Given the description of an element on the screen output the (x, y) to click on. 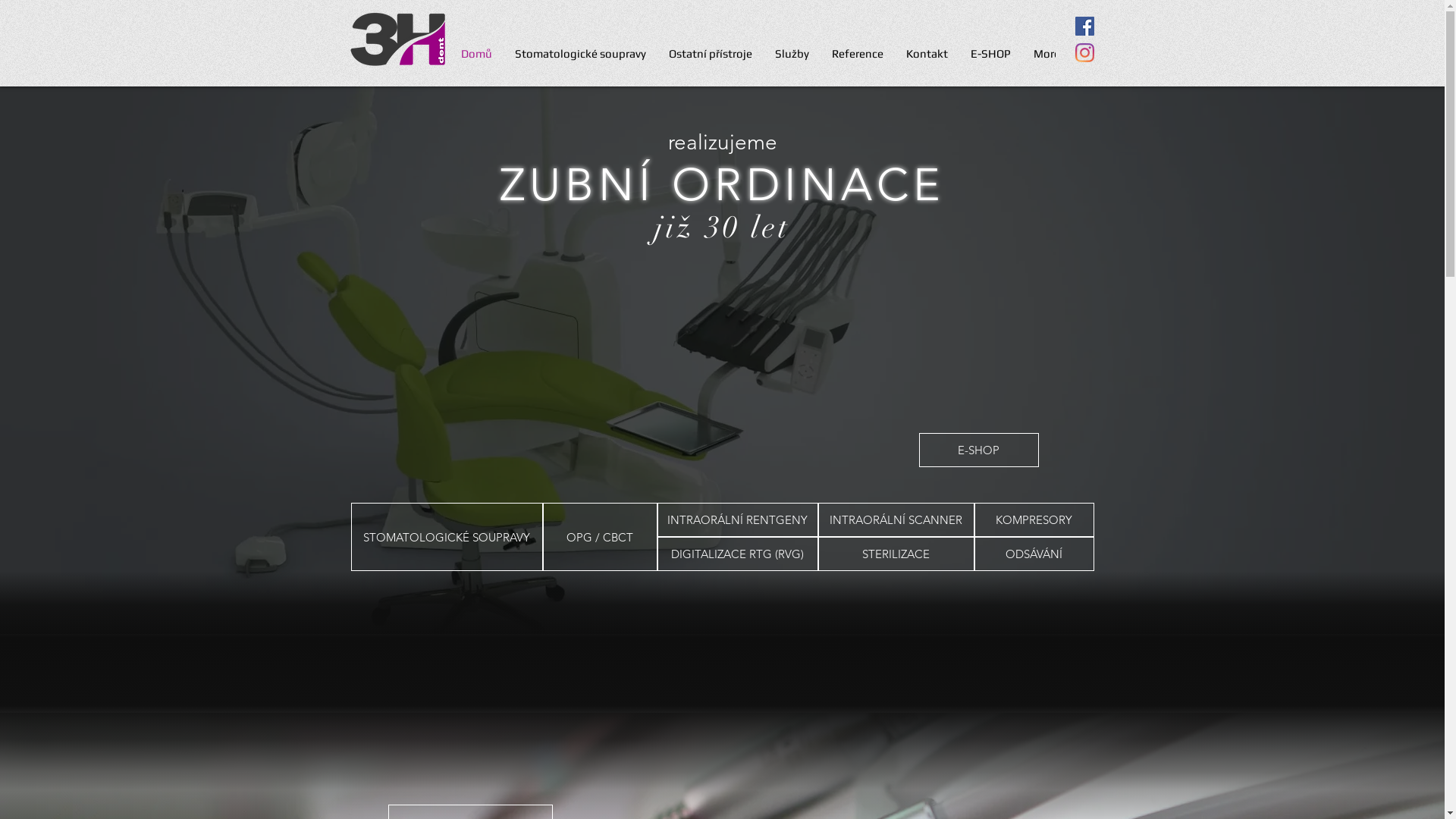
DIGITALIZACE RTG (RVG) Element type: text (736, 553)
Kontakt Element type: text (926, 57)
Reference Element type: text (857, 57)
E-SHOP Element type: text (978, 450)
STERILIZACE Element type: text (895, 553)
OPG / CBCT Element type: text (599, 536)
E-SHOP Element type: text (989, 57)
KOMPRESORY Element type: text (1033, 519)
